Given the description of an element on the screen output the (x, y) to click on. 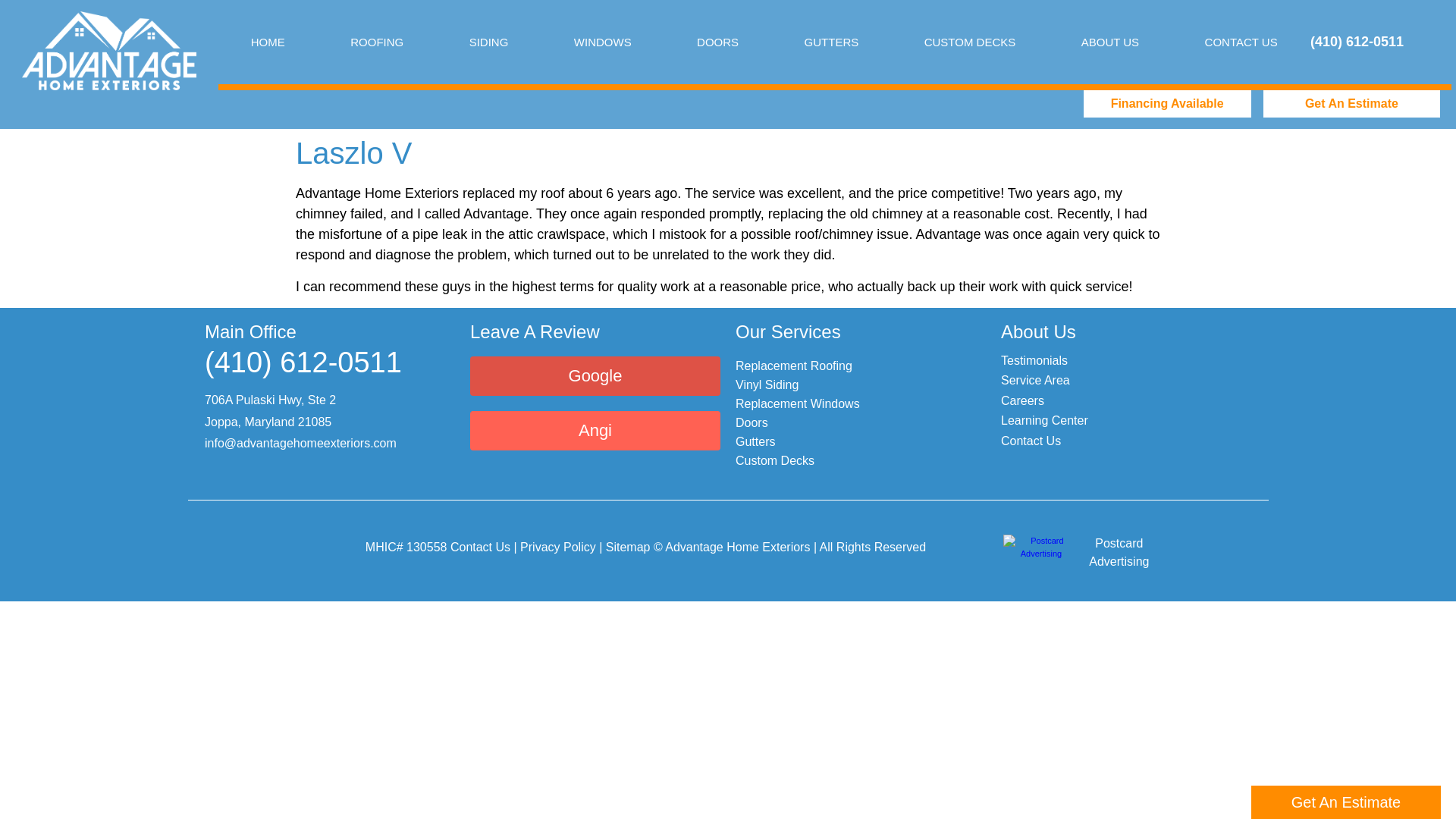
Financing Available (1166, 103)
WINDOWS (602, 41)
CONTACT US (1241, 41)
DOORS (717, 41)
Get An Estimate (1352, 103)
SIDING (487, 41)
ABOUT US (1110, 41)
HOME (267, 41)
CUSTOM DECKS (969, 41)
GUTTERS (831, 41)
ROOFING (376, 41)
